Given the description of an element on the screen output the (x, y) to click on. 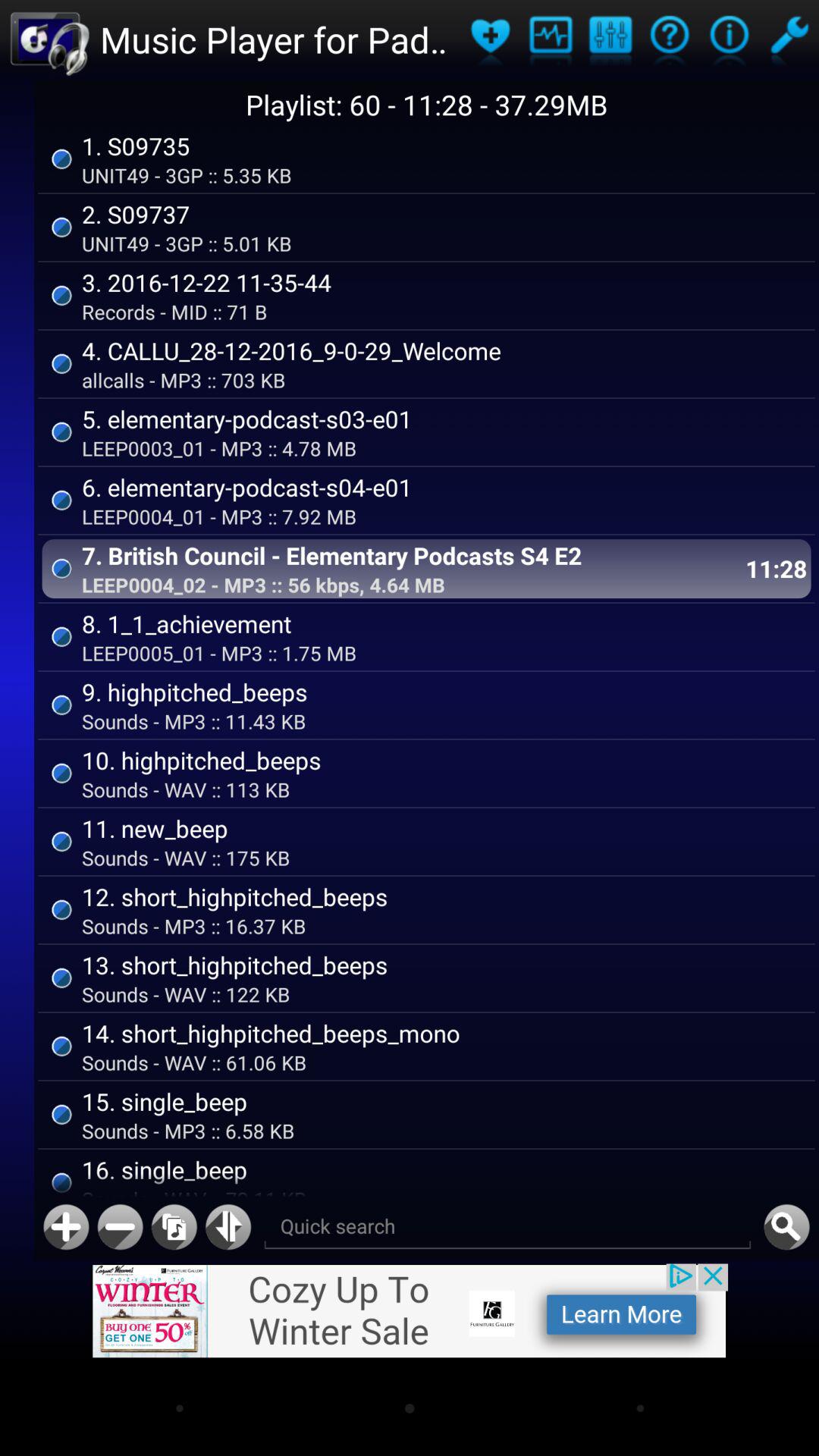
toggle to favorite (490, 39)
